Given the description of an element on the screen output the (x, y) to click on. 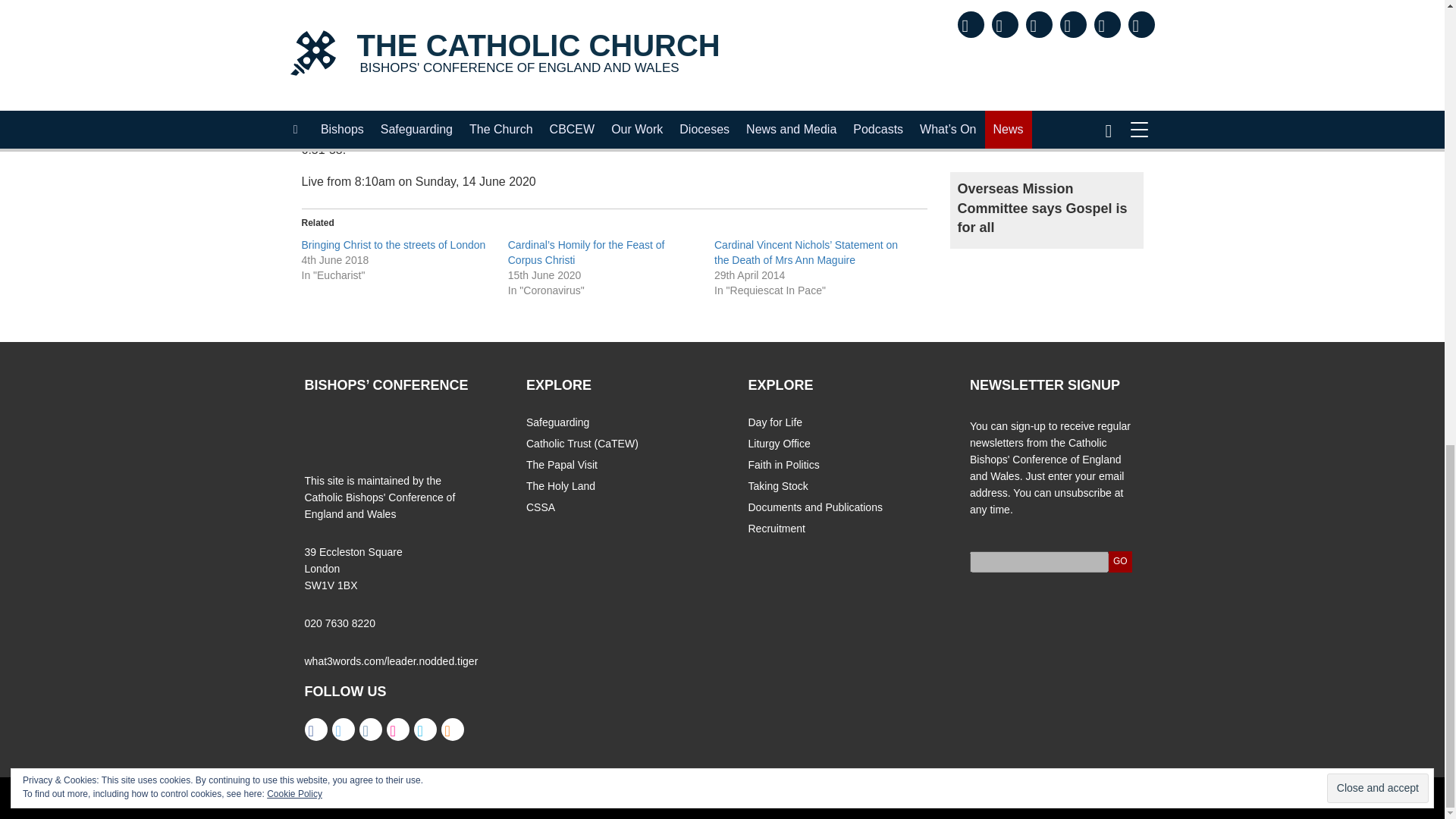
Go (1120, 561)
Bringing Christ to the streets of London (393, 244)
